Given the description of an element on the screen output the (x, y) to click on. 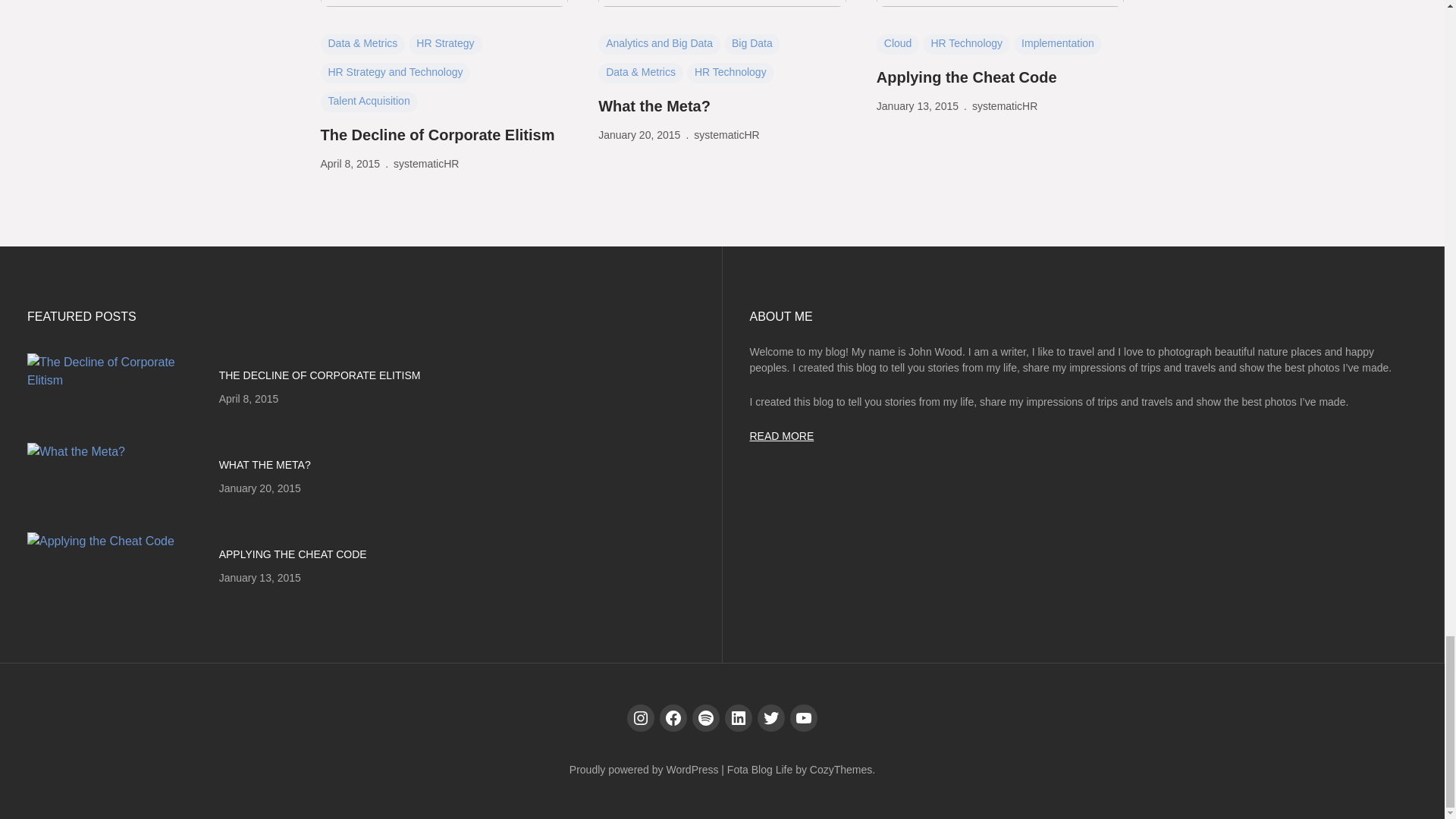
Cloud (898, 44)
Big Data (751, 44)
The Decline of Corporate Elitism (437, 135)
Applying the Cheat Code (966, 76)
HR Technology (966, 44)
HR Strategy and Technology (395, 73)
Implementation (1057, 44)
What the Meta? (654, 106)
HR Strategy (445, 44)
Analytics and Big Data (659, 44)
HR Technology (730, 73)
THE DECLINE OF CORPORATE ELITISM (319, 375)
Talent Acquisition (368, 101)
